Given the description of an element on the screen output the (x, y) to click on. 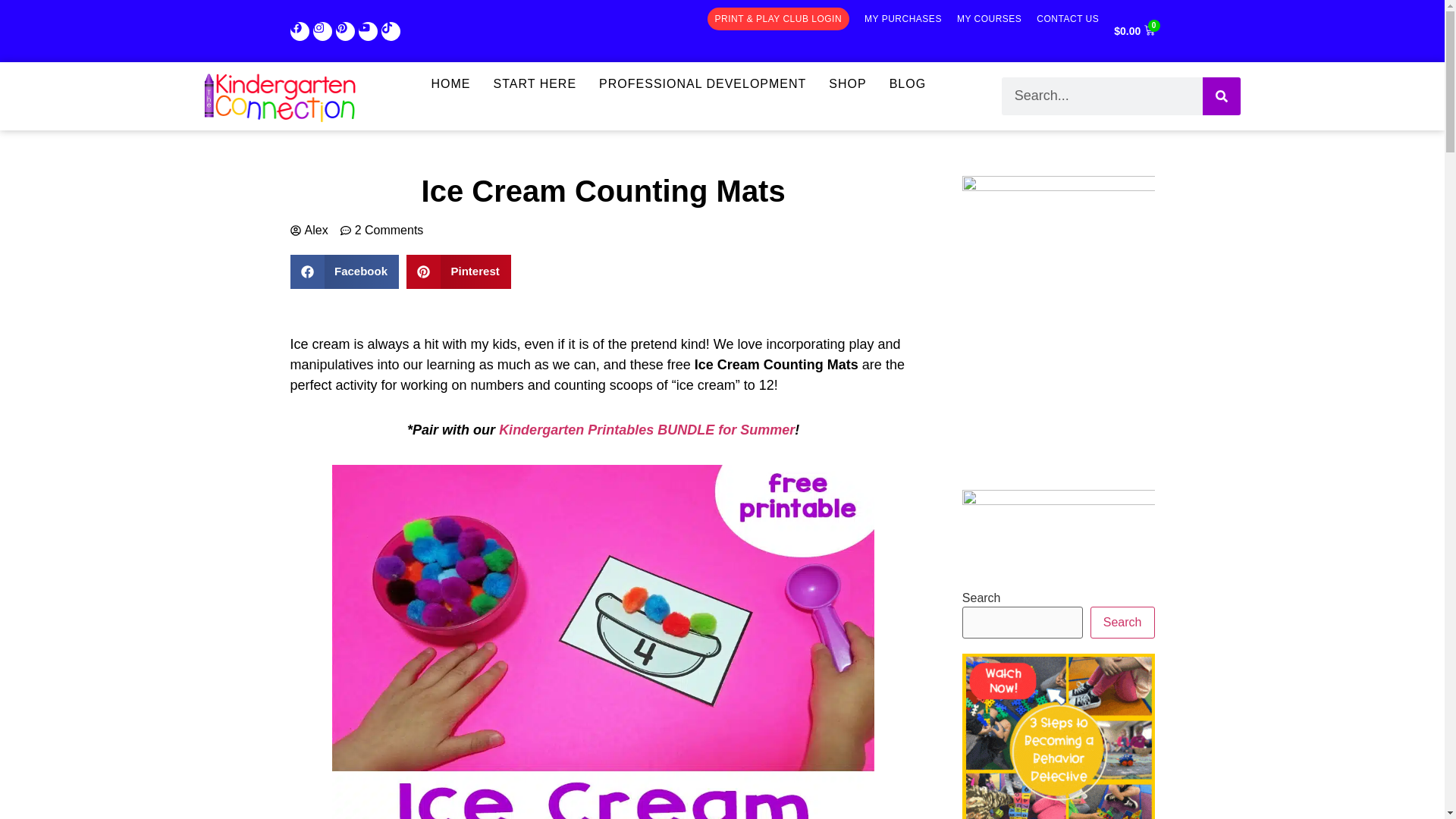
CONTACT US (1067, 18)
BLOG (907, 83)
SHOP (847, 83)
HOME (451, 83)
START HERE (535, 83)
MY COURSES (989, 18)
PROFESSIONAL DEVELOPMENT (702, 83)
MY PURCHASES (903, 18)
